Given the description of an element on the screen output the (x, y) to click on. 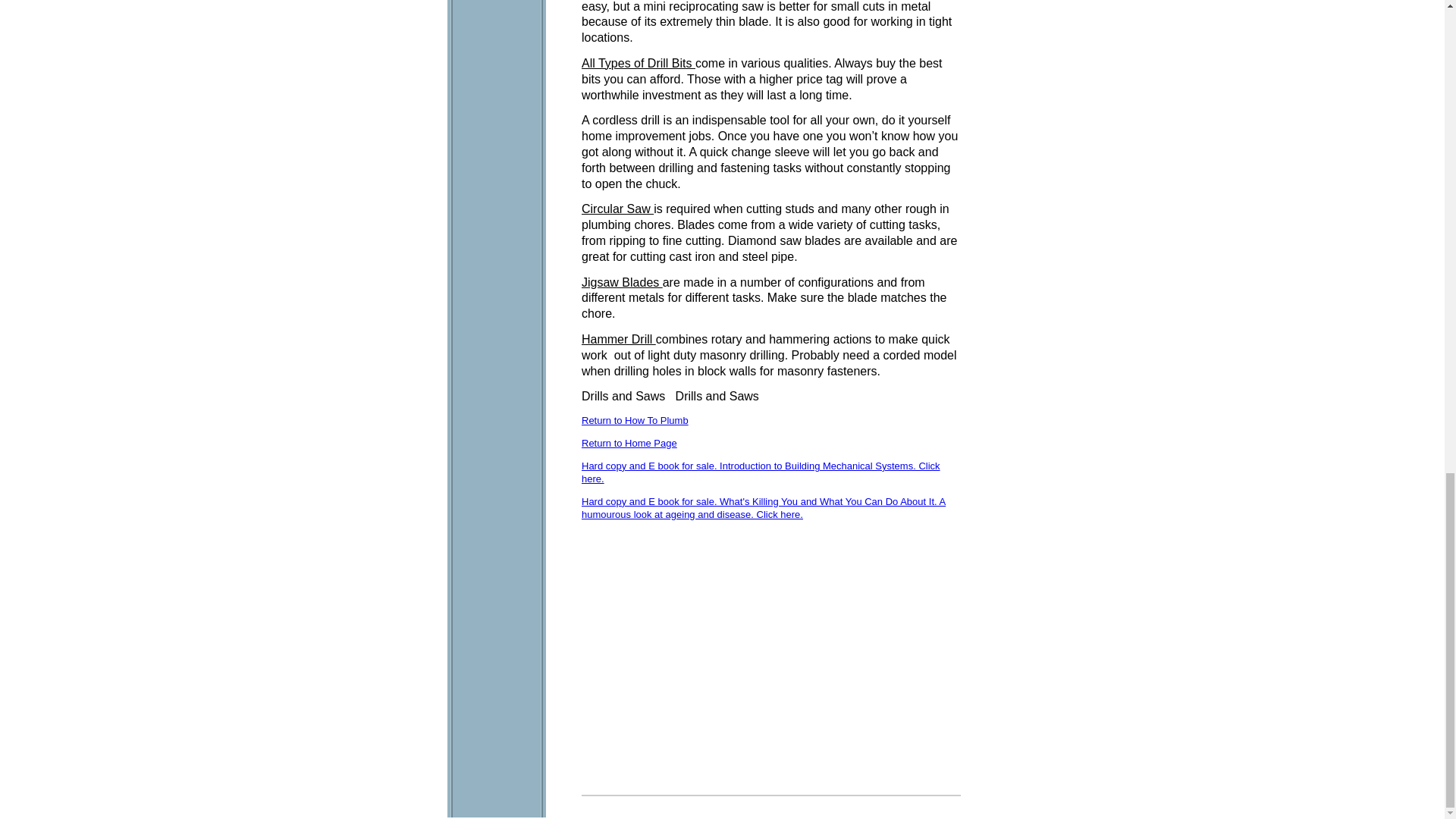
Return to Home Page (628, 442)
Return to How To Plumb (634, 419)
